Given the description of an element on the screen output the (x, y) to click on. 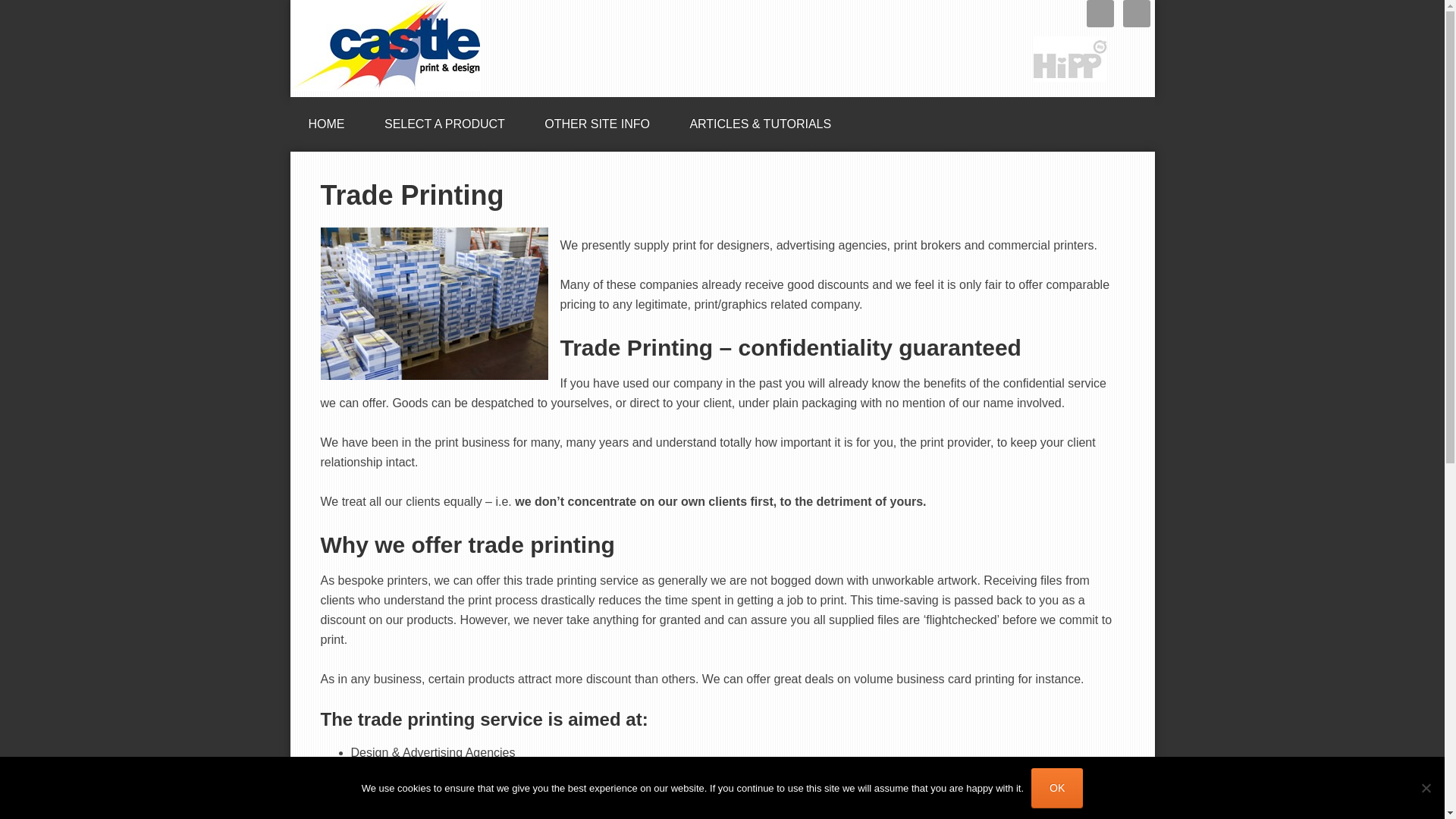
No (1425, 787)
HOME (325, 119)
SELECT A PRODUCT (444, 119)
OTHER SITE INFO (596, 119)
